Given the description of an element on the screen output the (x, y) to click on. 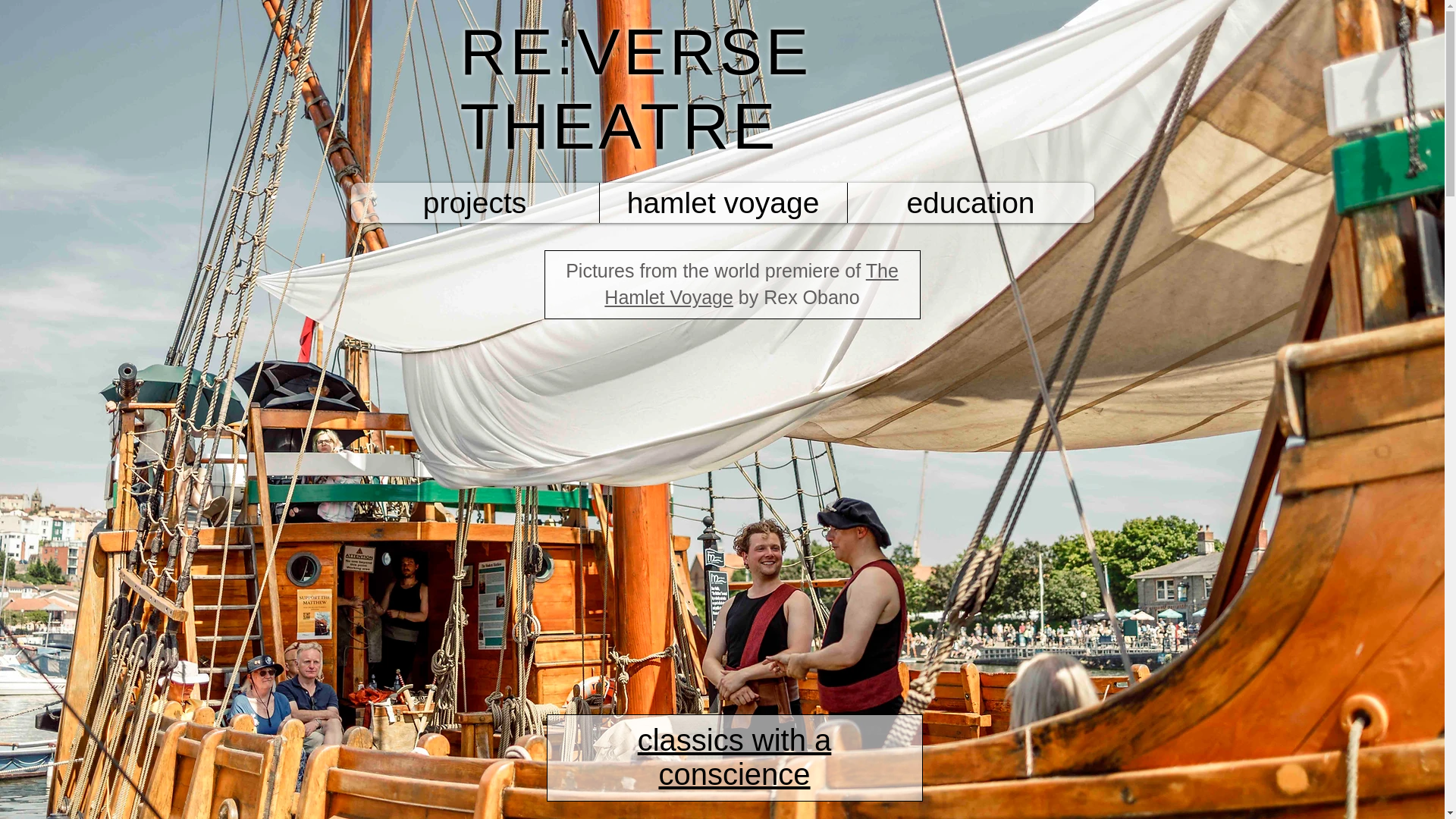
hamlet voyage (722, 202)
classics with a conscience (734, 757)
The Hamlet Voyage (751, 283)
projects (474, 202)
education (969, 202)
